Given the description of an element on the screen output the (x, y) to click on. 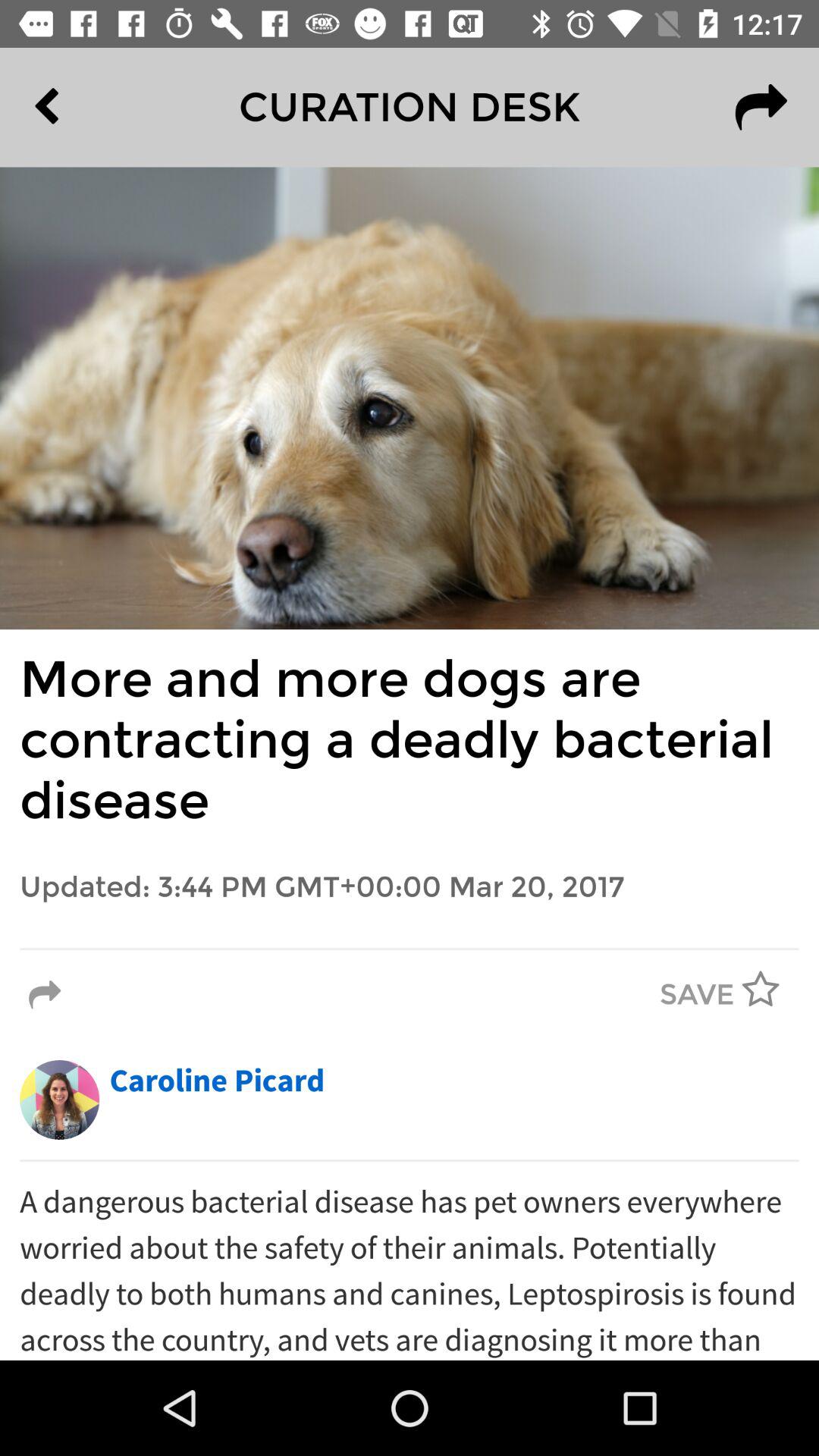
click item above a dangerous bacterial (409, 1160)
